Given the description of an element on the screen output the (x, y) to click on. 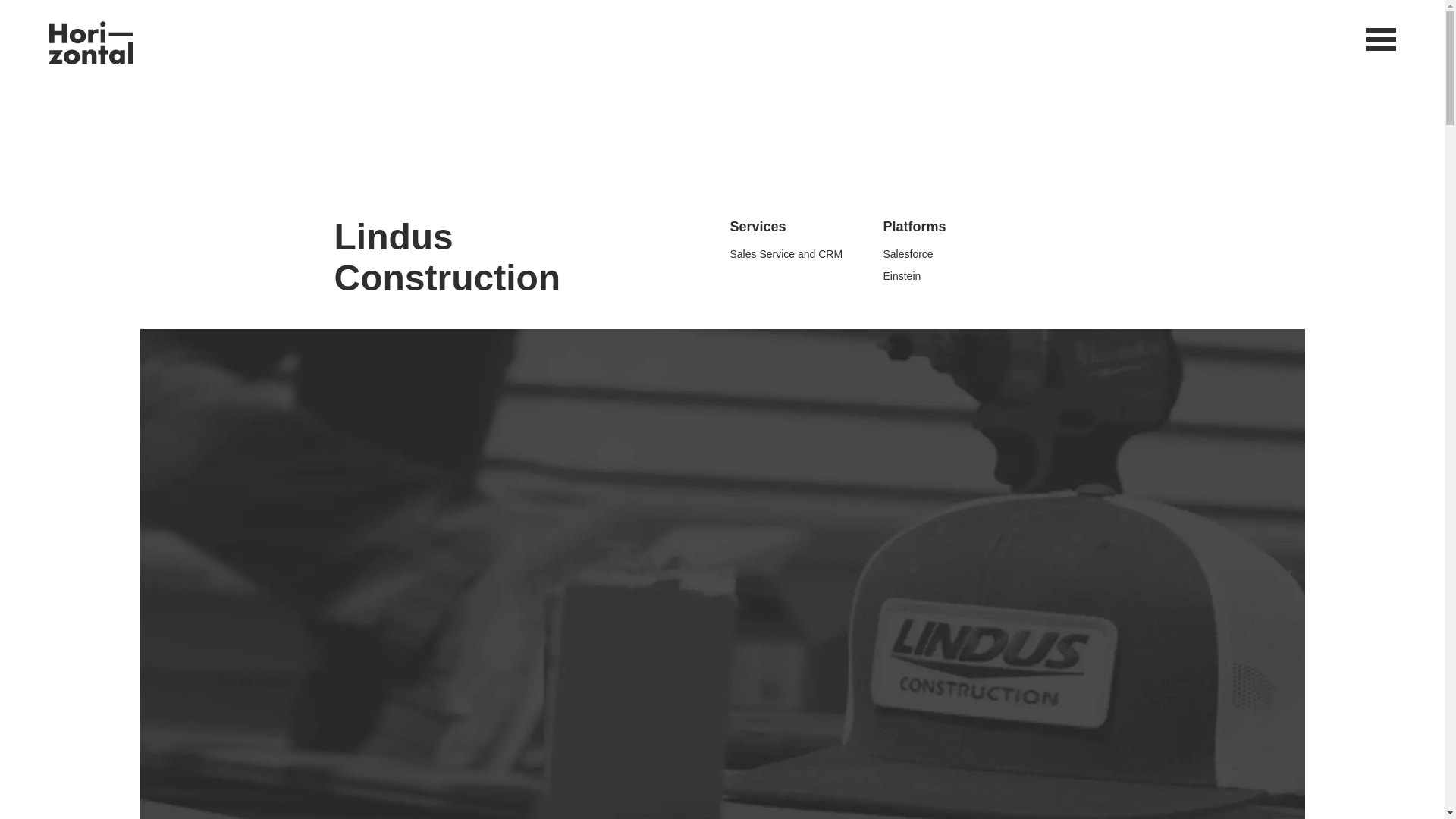
Sales Service and CRM (786, 254)
Salesforce (907, 254)
Horizontal Digital (90, 42)
